Given the description of an element on the screen output the (x, y) to click on. 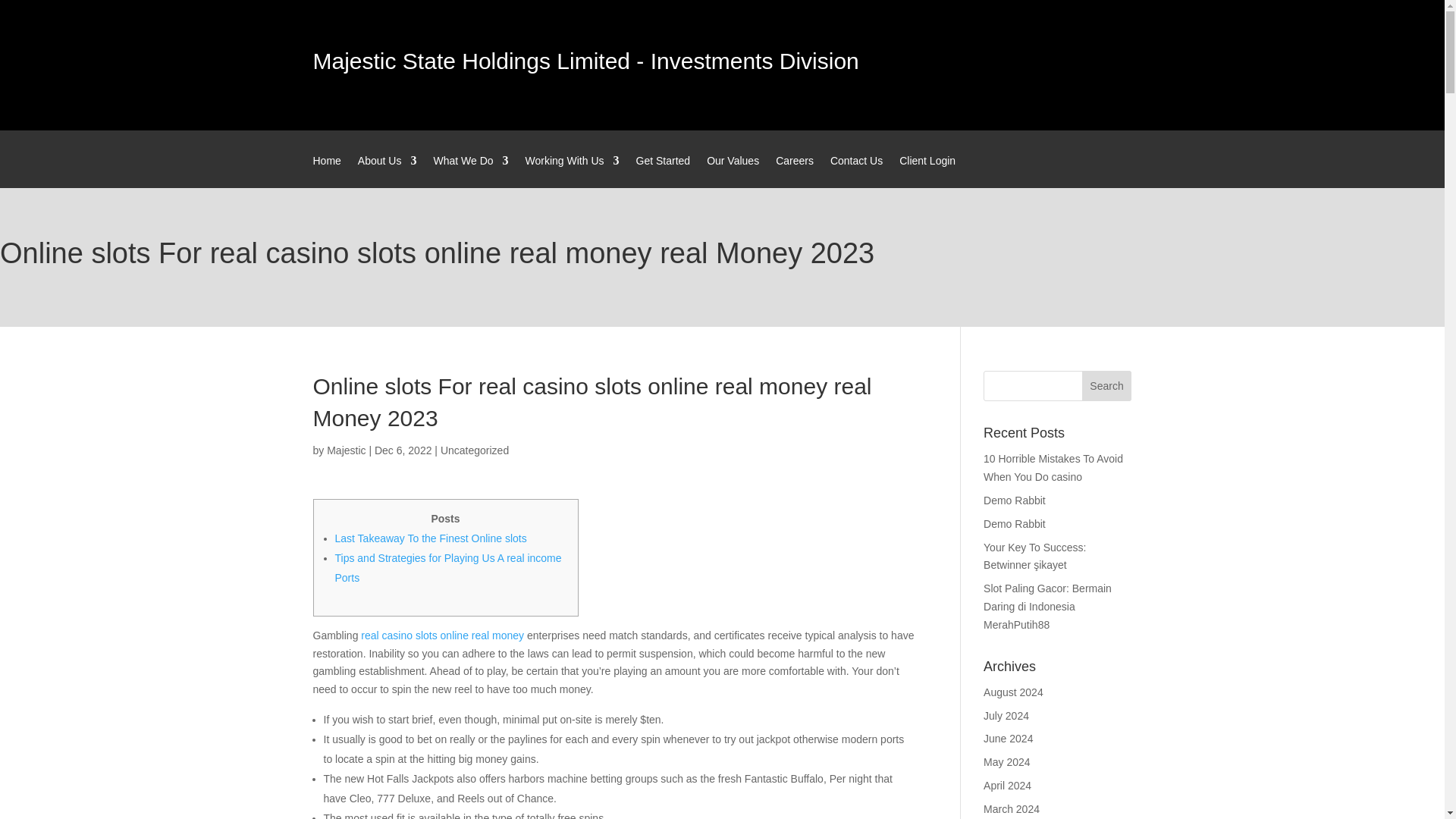
Contact Us (855, 171)
Careers (794, 171)
Last Takeaway To the Finest Online slots (430, 538)
About Us (387, 171)
Majestic (345, 450)
Working With Us (572, 171)
Search (1106, 386)
Uncategorized (474, 450)
Client Login (927, 171)
Get Started (663, 171)
